Given the description of an element on the screen output the (x, y) to click on. 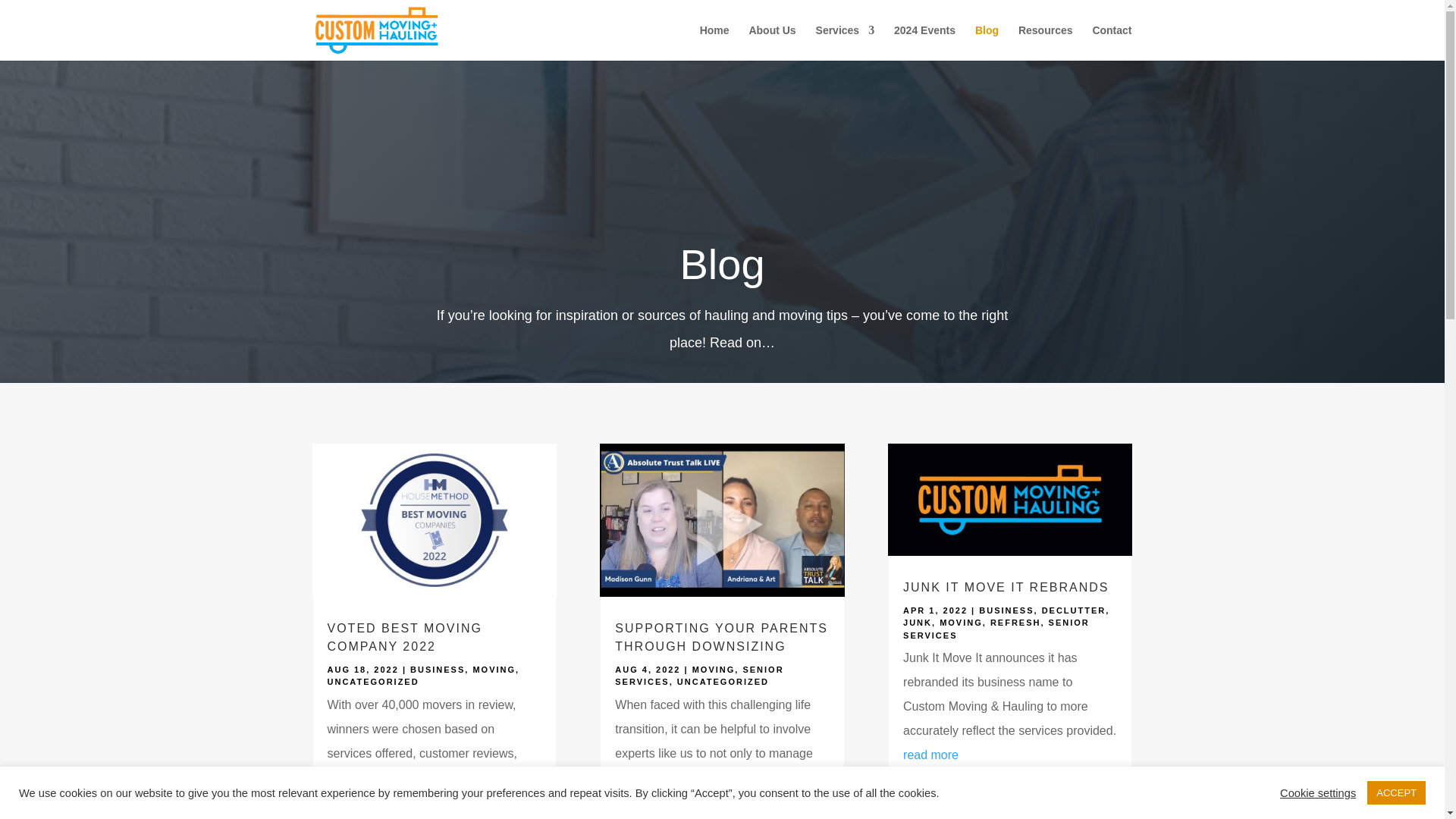
About Us (771, 42)
UNCATEGORIZED (722, 681)
Services (845, 42)
UNCATEGORIZED (373, 681)
MOVING (714, 669)
SUPPORTING YOUR PARENTS THROUGH DOWNSIZING (721, 636)
Contact (1111, 42)
MOVING (493, 669)
read more (354, 801)
2024 Events (924, 42)
SENIOR SERVICES (698, 676)
BUSINESS (437, 669)
Resources (1045, 42)
VOTED BEST MOVING COMPANY 2022 (404, 636)
